Given the description of an element on the screen output the (x, y) to click on. 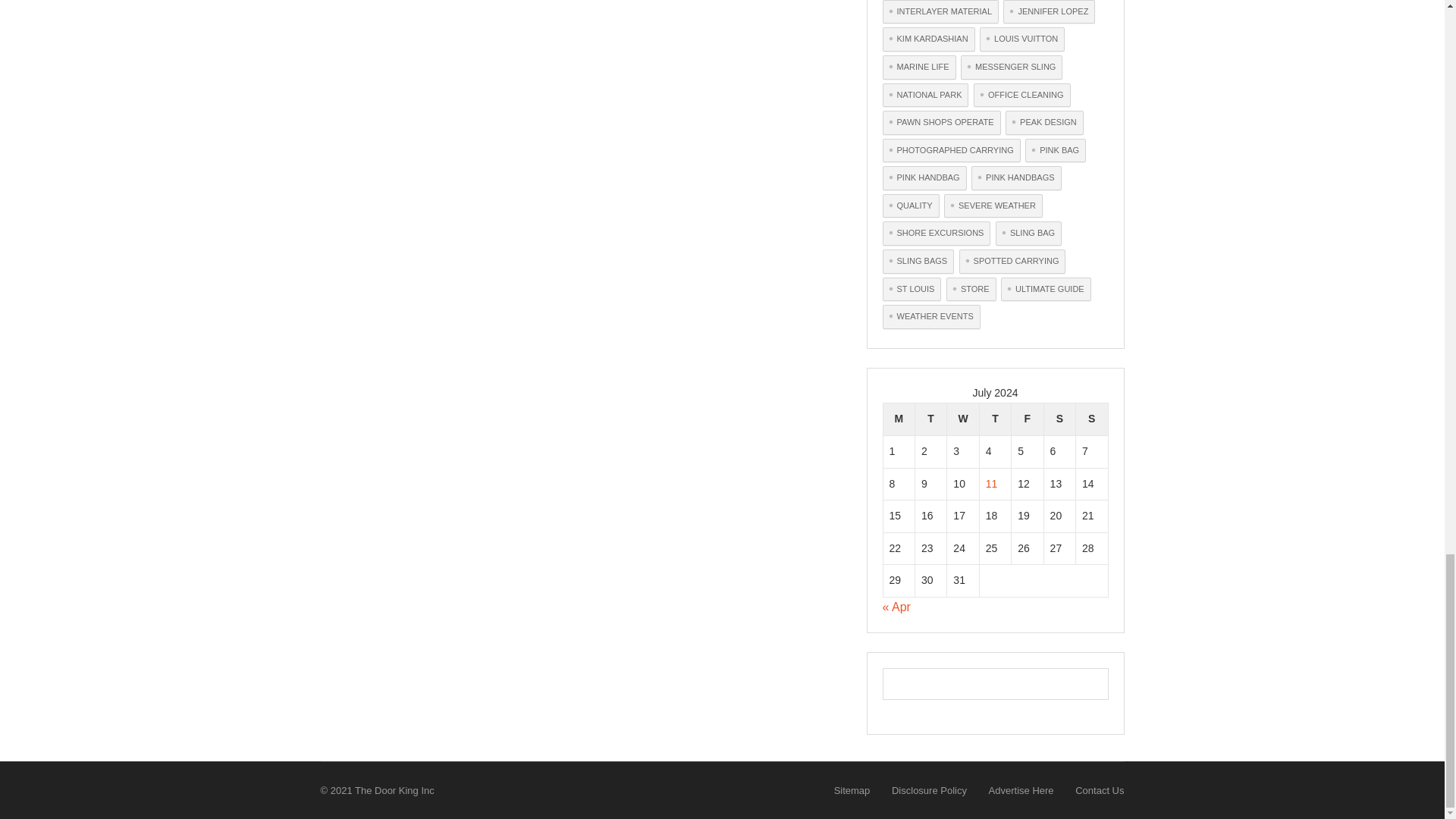
Sunday (1091, 419)
Wednesday (962, 419)
Thursday (994, 419)
Tuesday (930, 419)
Saturday (1059, 419)
Friday (1027, 419)
Monday (898, 419)
